Given the description of an element on the screen output the (x, y) to click on. 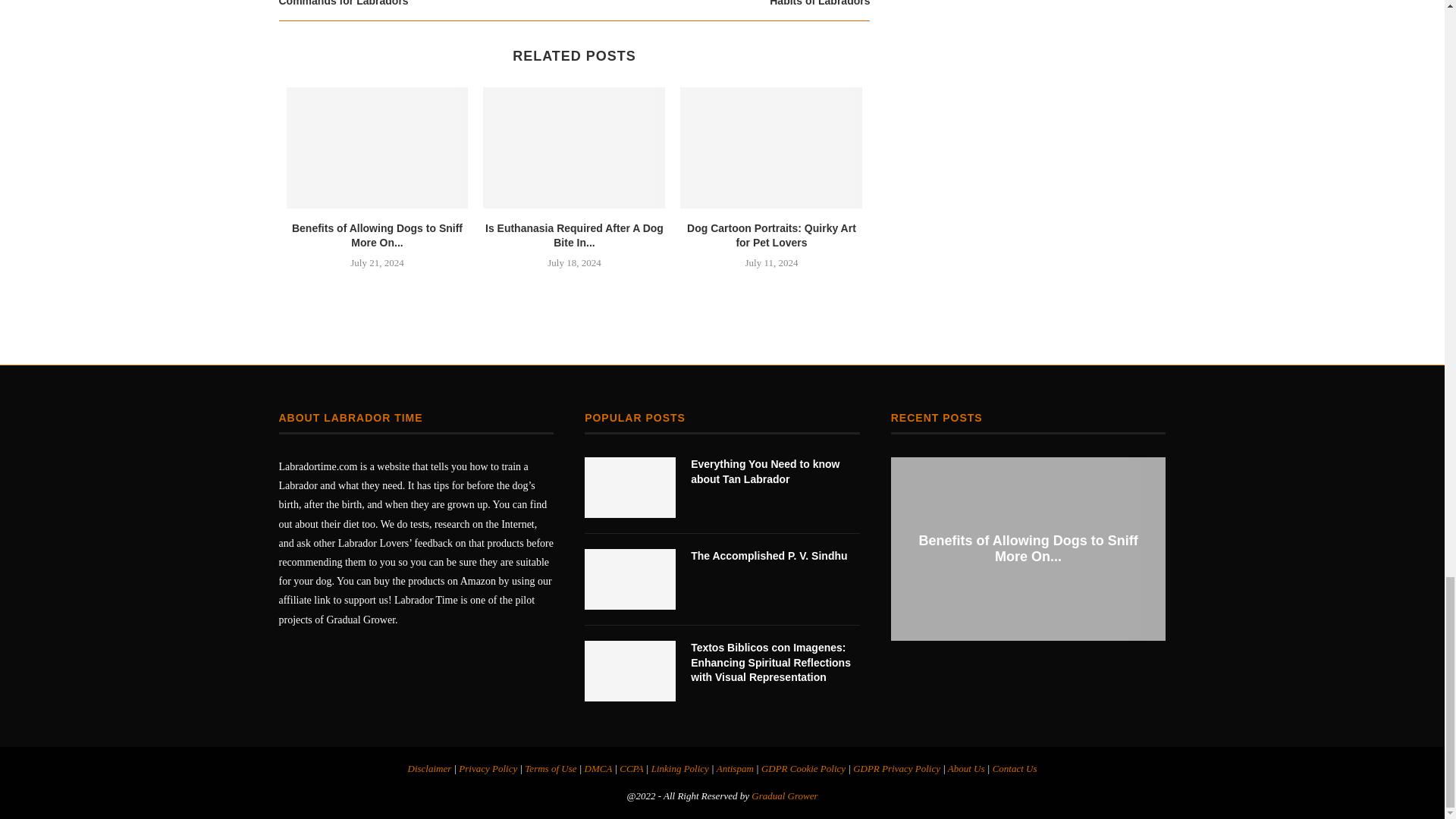
Benefits of Allowing Dogs to Sniff More On... (377, 235)
Dog Cartoon Portraits: Quirky Art for Pet Lovers (771, 235)
Everything You Need to know about Tan Labrador (630, 487)
Is Euthanasia Required After A Dog Bite In... (573, 235)
Is Euthanasia Required After A Dog Bite In California? (574, 147)
Benefits of Allowing Dogs to Sniff More On Walks? (377, 147)
Dog Cartoon Portraits: Quirky Art for Pet Lovers (770, 147)
